Given the description of an element on the screen output the (x, y) to click on. 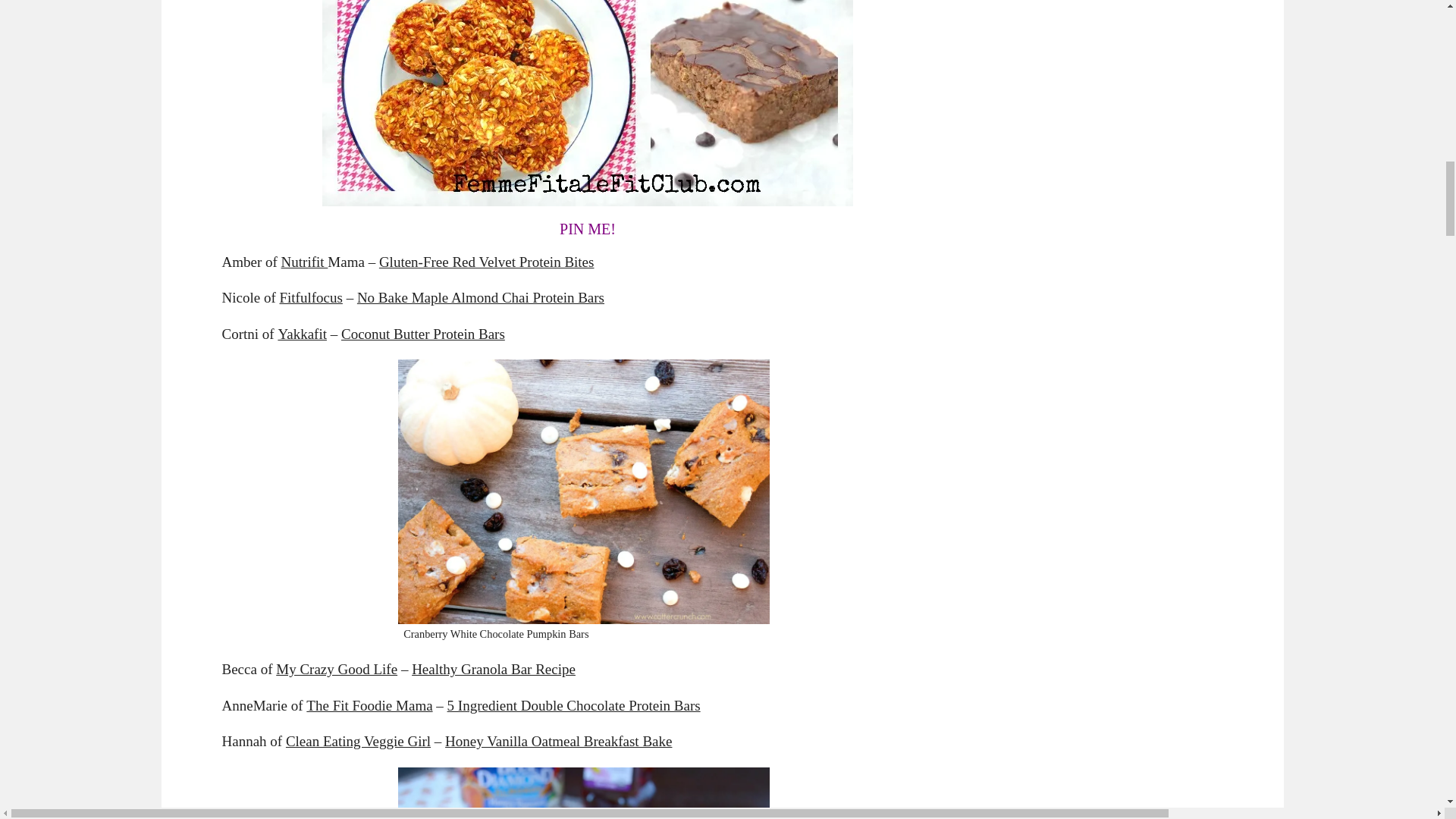
honey-vanilla-oatmeal-bake-11-1024x680 (583, 793)
cranberry-white-choc-pumpkin-bars-4--1024x728 (583, 491)
5 Ingredient Double Chocolate Protein Bars (573, 705)
Gluten-Free Red Velvet Protein Bites (486, 261)
Coconut Butter Protein Bars (422, 333)
My Crazy Good Life (336, 668)
The Fit Foodie Mama (368, 705)
Yakkafit (302, 333)
Healthy Granola Bar Recipe (493, 668)
Nutrifit  (305, 261)
